Given the description of an element on the screen output the (x, y) to click on. 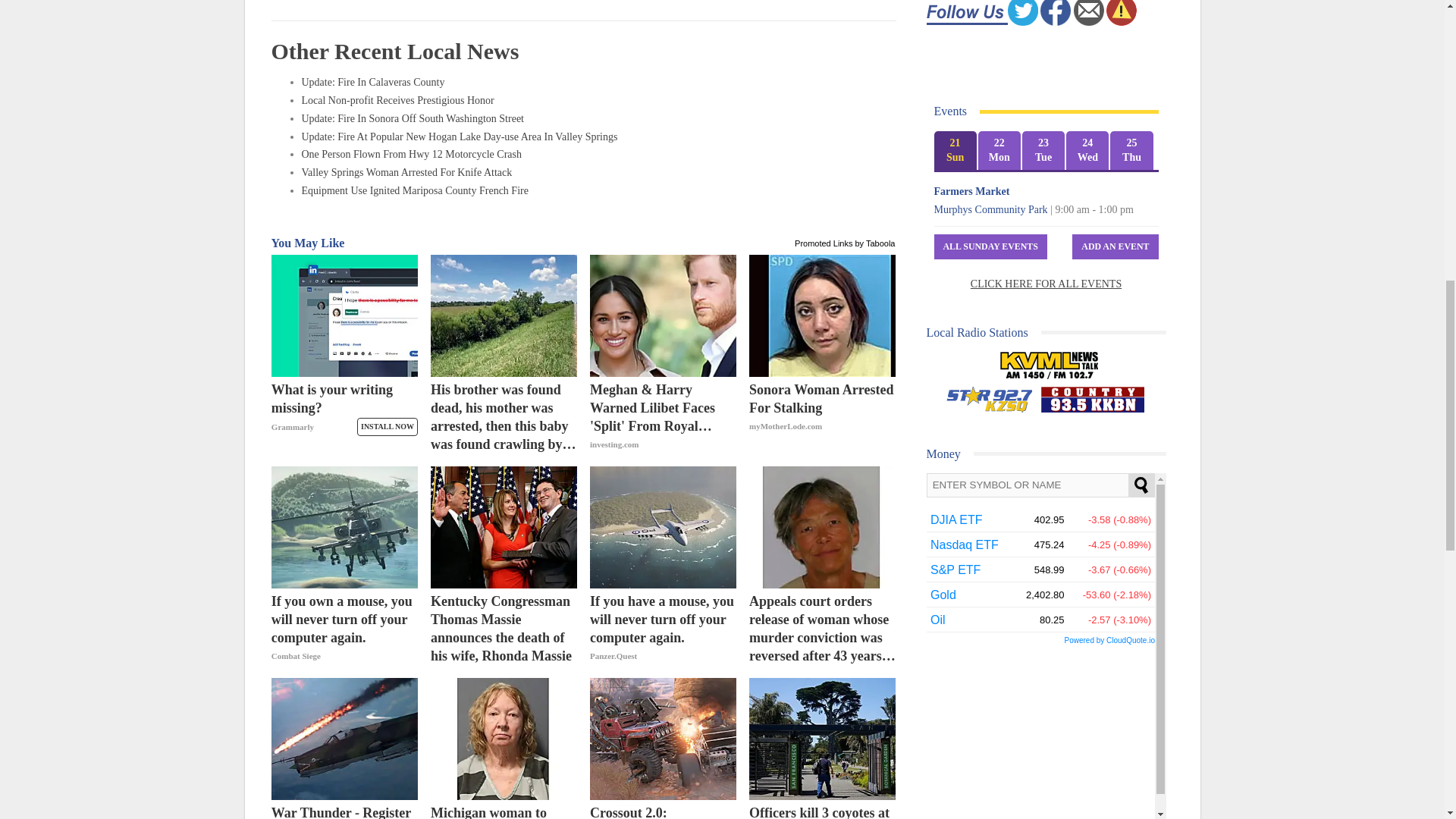
What is your writing missing? (343, 315)
What is your writing missing? (343, 416)
Sonora Woman Arrested For Stalking (822, 416)
All Sunday Events (990, 246)
Sonora Woman Arrested For Stalking (822, 315)
Add An Event (1114, 246)
